Given the description of an element on the screen output the (x, y) to click on. 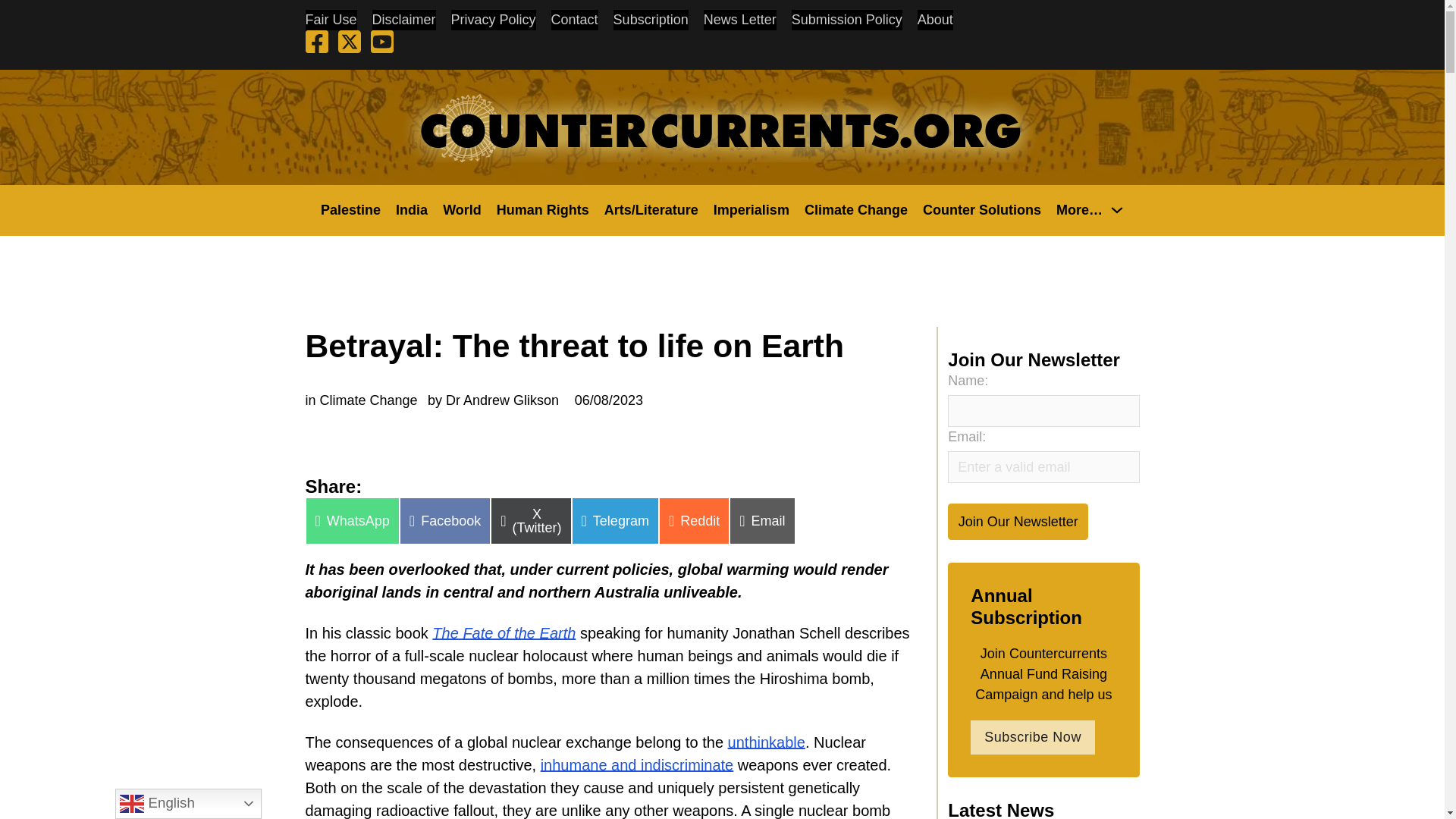
World (461, 209)
News Letter (739, 19)
Fair Use (330, 19)
Counter Solutions (982, 209)
Disclaimer (403, 19)
Submission Policy (847, 19)
India (412, 209)
Contact (574, 19)
Join Our Newsletter (1017, 520)
Climate Change (856, 209)
Human Rights (542, 209)
Imperialism (751, 209)
About (935, 19)
Palestine (350, 209)
Subscription (650, 19)
